Given the description of an element on the screen output the (x, y) to click on. 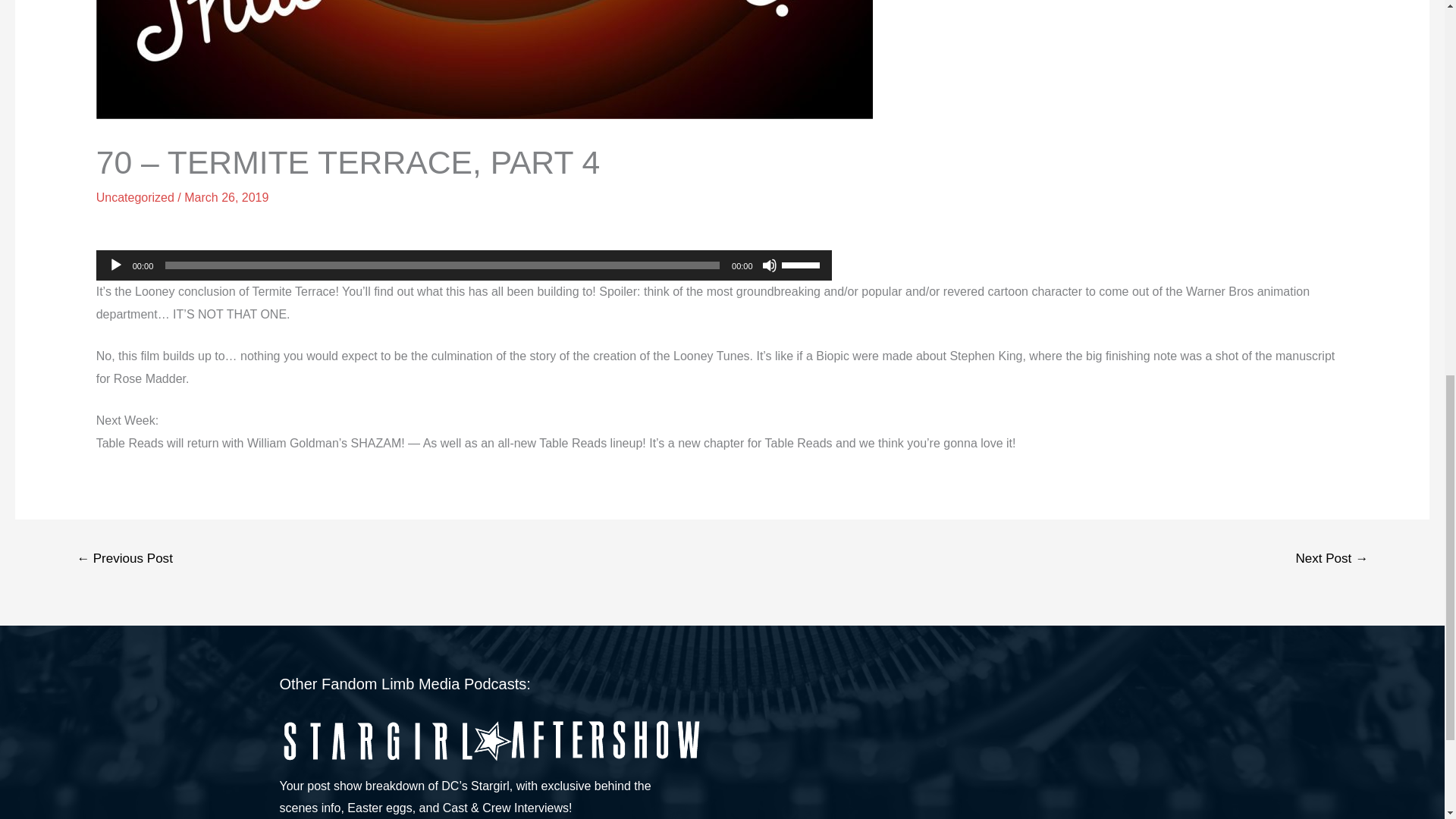
Mute (769, 264)
Uncategorized (135, 196)
Play (115, 264)
